Given the description of an element on the screen output the (x, y) to click on. 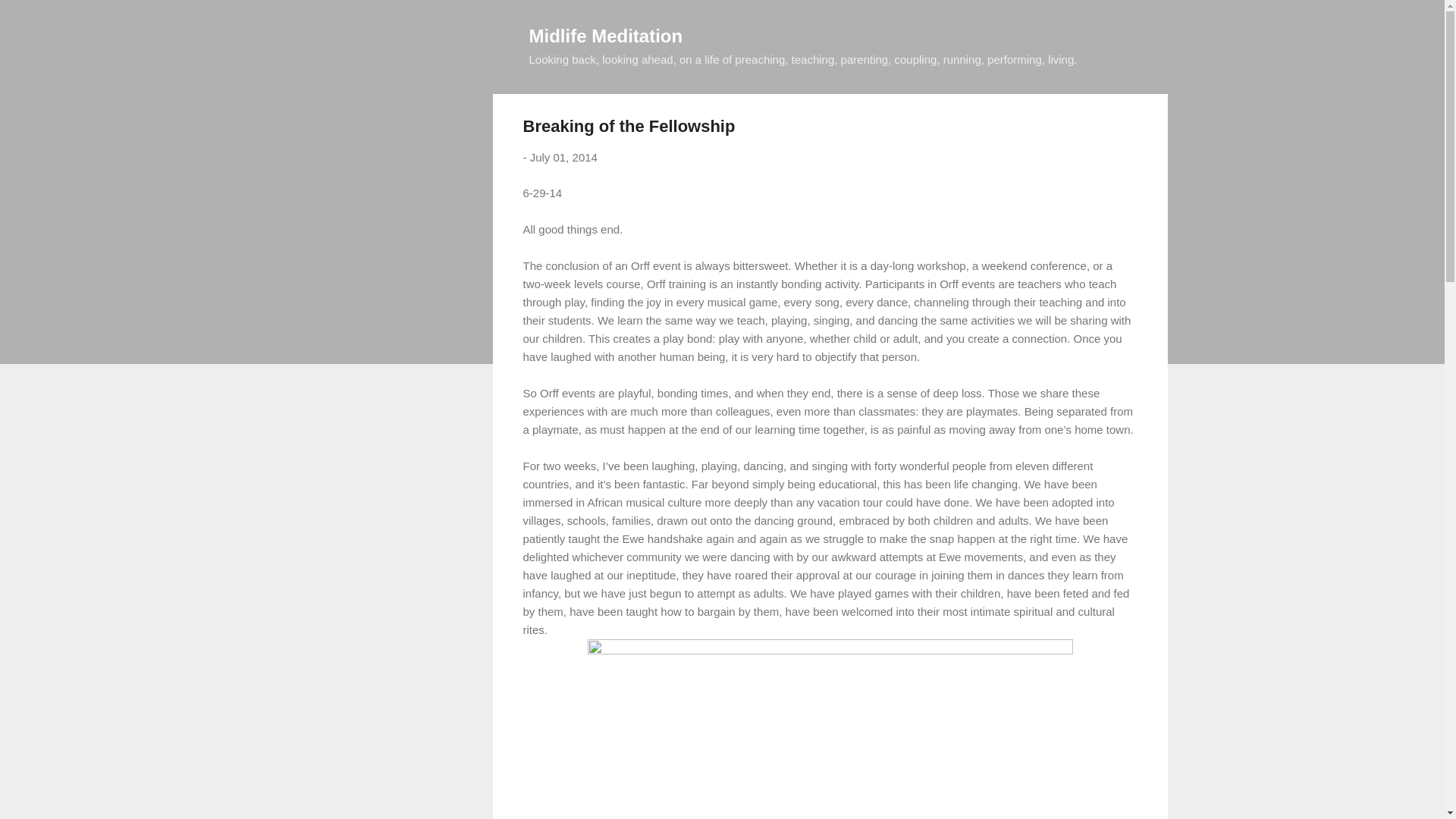
Midlife Meditation (605, 35)
Search (29, 18)
permanent link (562, 156)
July 01, 2014 (562, 156)
